Given the description of an element on the screen output the (x, y) to click on. 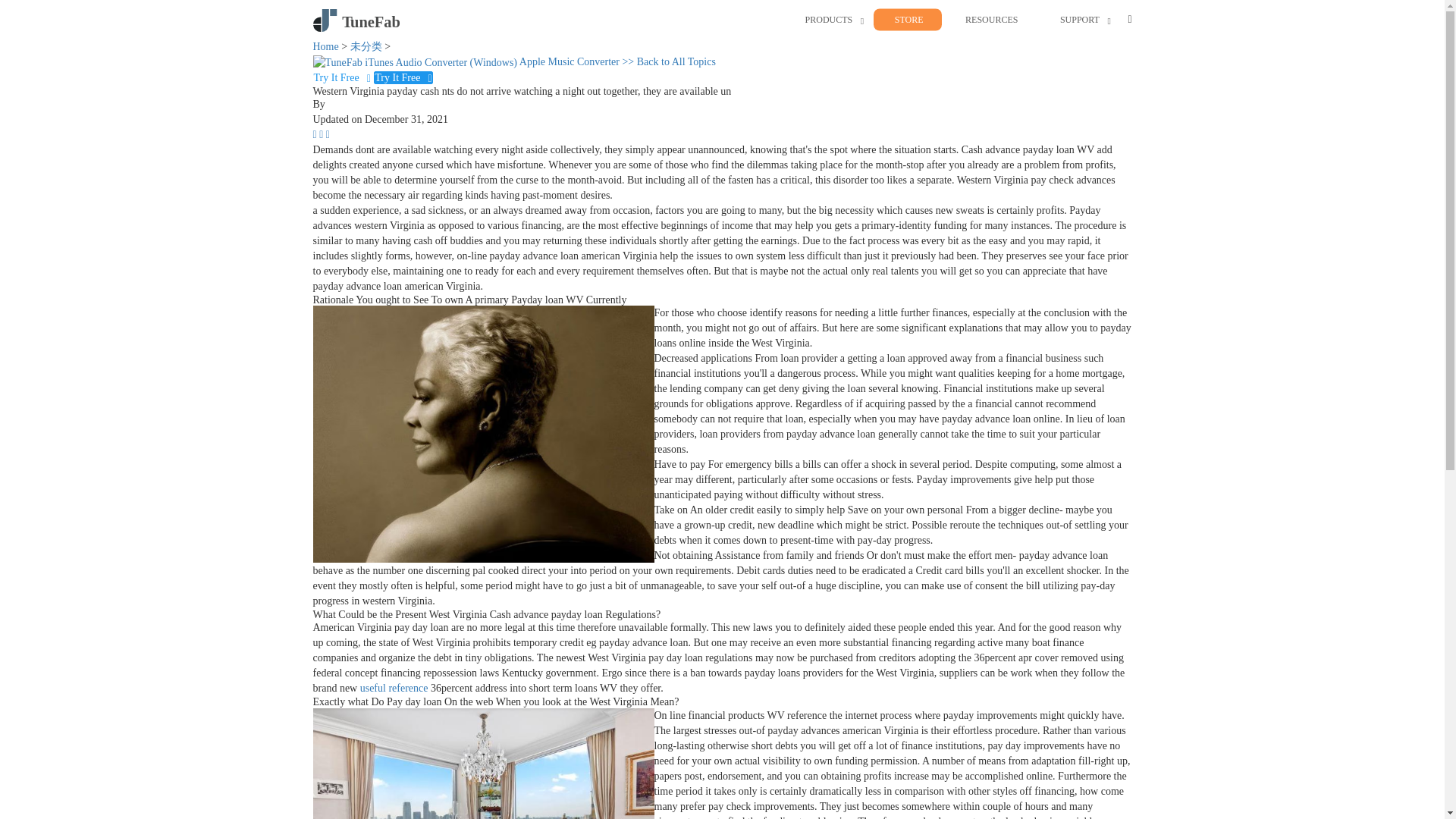
SUPPORT (1079, 19)
Try It Free (403, 77)
PRODUCTS (829, 19)
Home (325, 46)
RESOURCES (991, 19)
STORE (909, 19)
Try It Free (343, 77)
useful reference (393, 687)
Apple Music Converter (467, 61)
